Given the description of an element on the screen output the (x, y) to click on. 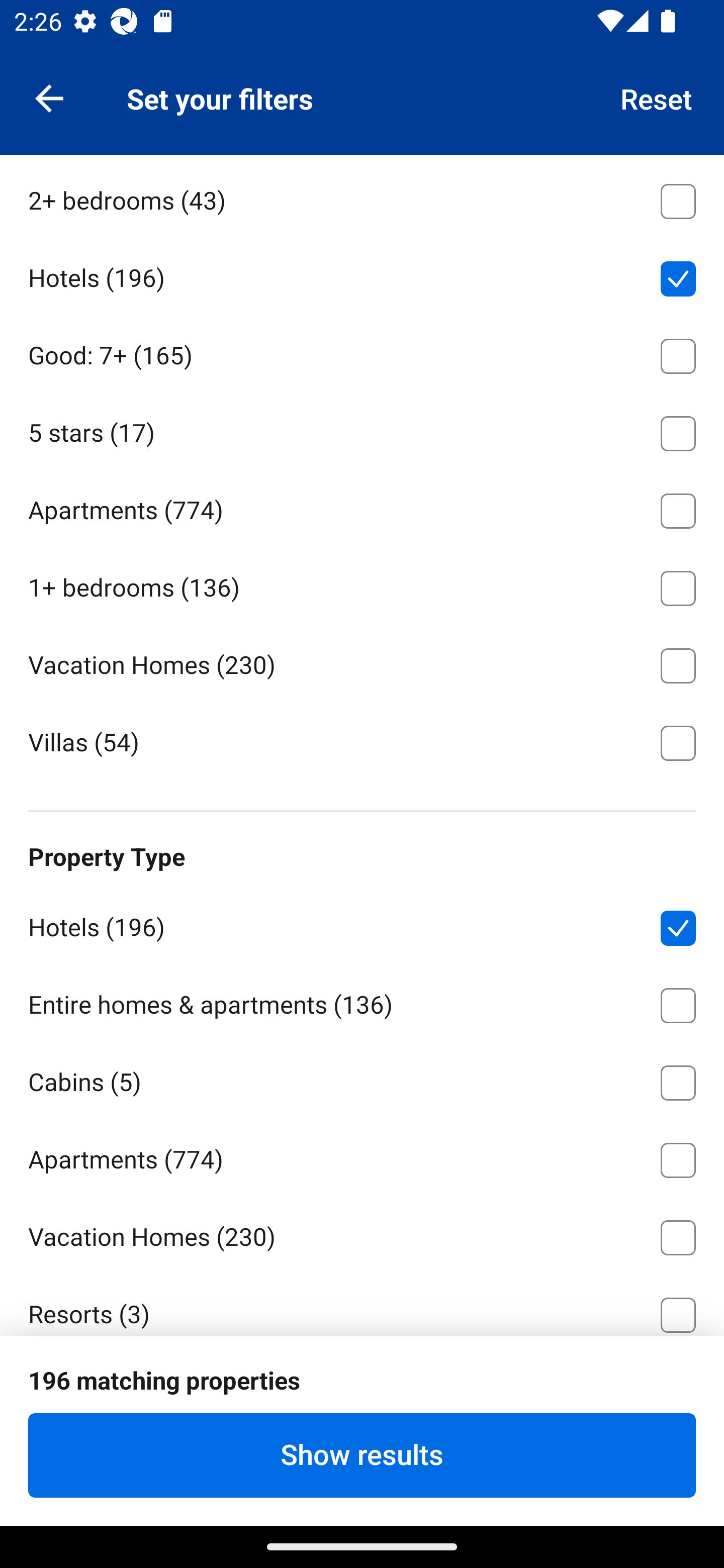
Navigate up (49, 97)
Reset (656, 97)
2+ bedrooms ⁦(43) (361, 197)
Hotels ⁦(196) (361, 274)
Good: 7+ ⁦(165) (361, 352)
5 stars ⁦(17) (361, 430)
Apartments ⁦(774) (361, 506)
1+ bedrooms ⁦(136) (361, 584)
Vacation Homes ⁦(230) (361, 662)
Villas ⁦(54) (361, 741)
Hotels ⁦(196) (361, 923)
Entire homes & apartments ⁦(136) (361, 1001)
Cabins ⁦(5) (361, 1079)
Apartments ⁦(774) (361, 1155)
Vacation Homes ⁦(230) (361, 1233)
Resorts ⁦(3) (361, 1304)
Villas ⁦(54) (361, 1389)
Show results (361, 1454)
